Given the description of an element on the screen output the (x, y) to click on. 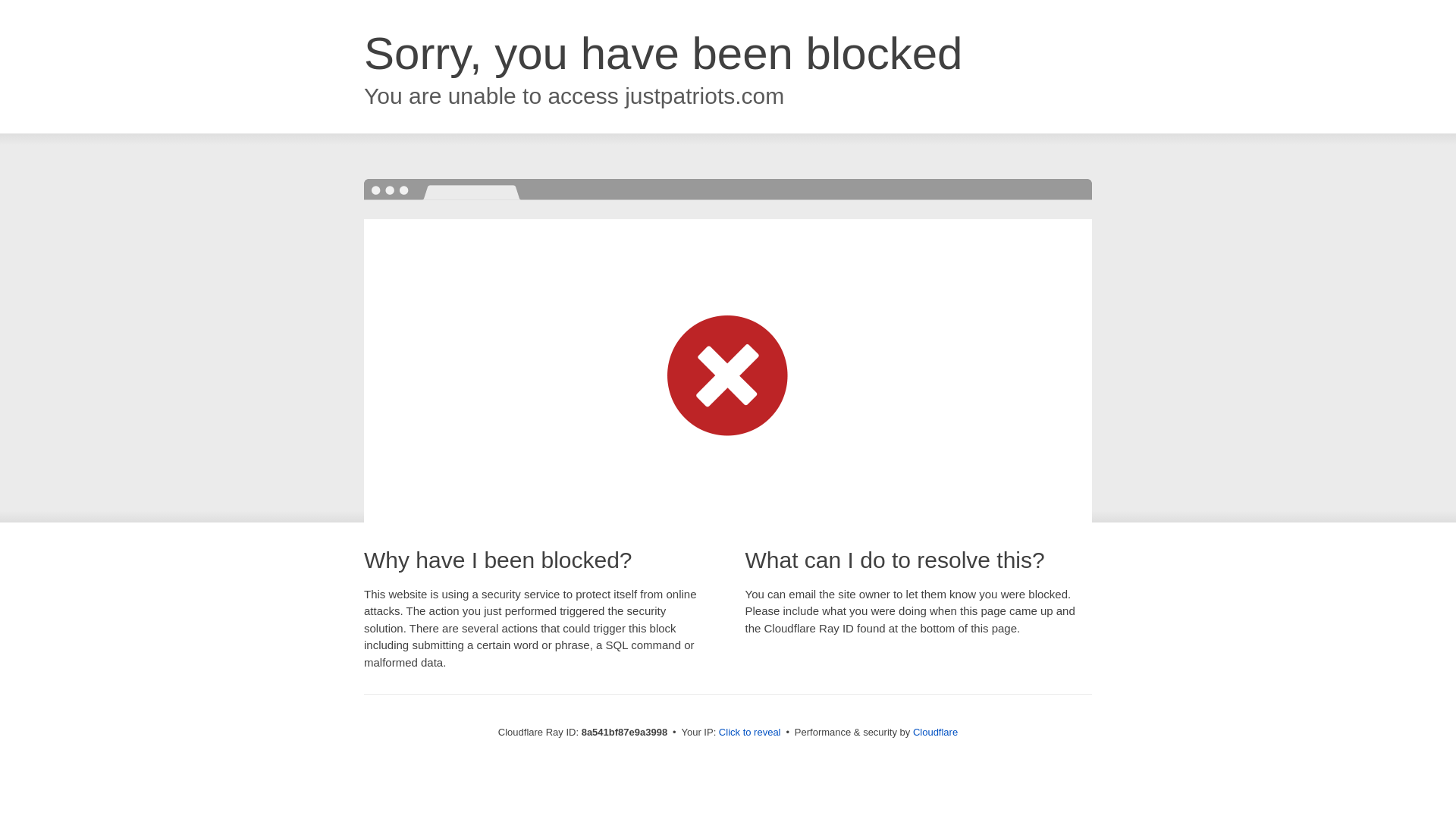
Cloudflare (935, 731)
Click to reveal (749, 732)
